Given the description of an element on the screen output the (x, y) to click on. 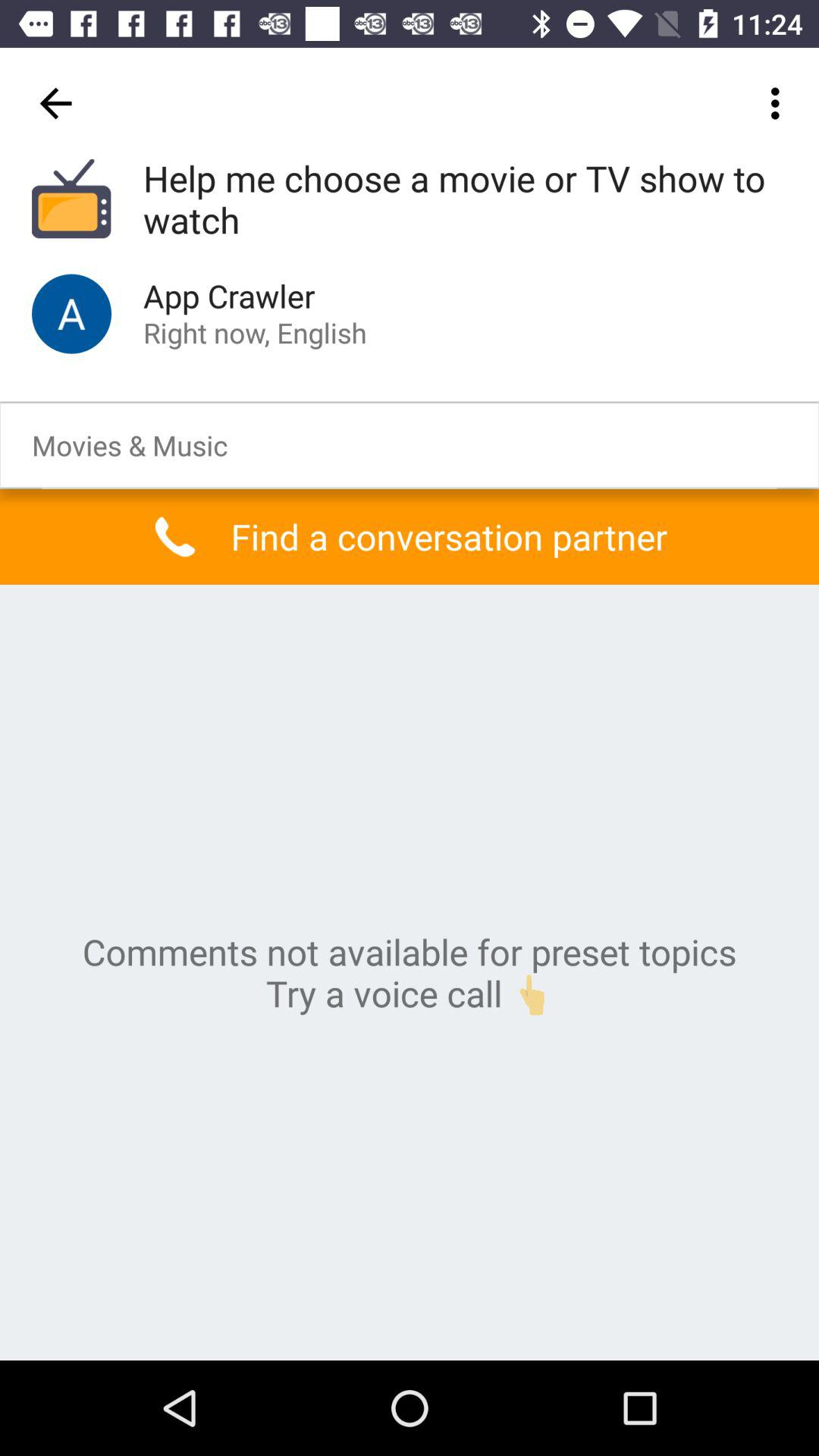
turn on the item at the top right corner (779, 103)
